Given the description of an element on the screen output the (x, y) to click on. 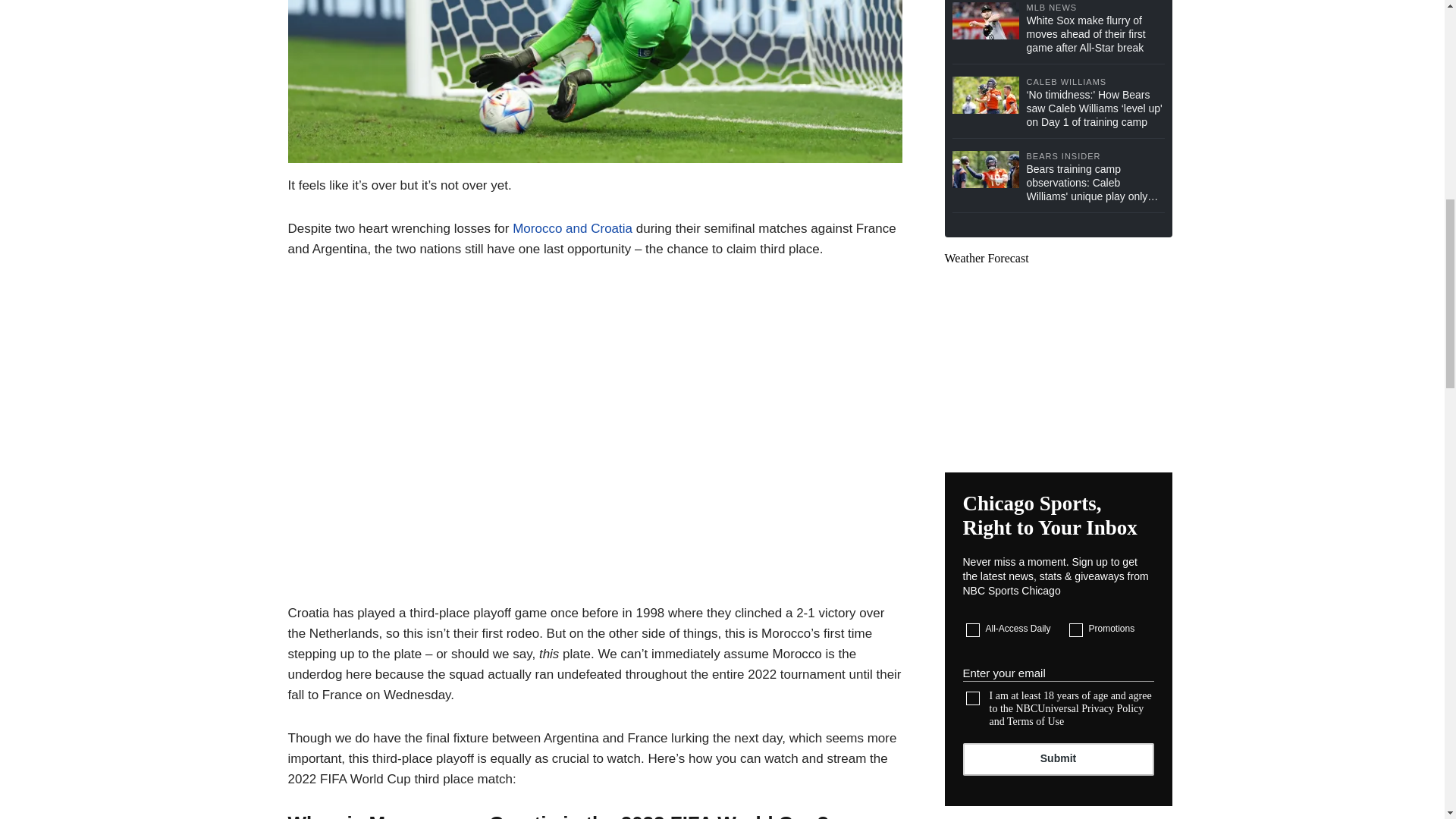
on (972, 630)
MLB NEWS (1095, 7)
3rd party ad content (1058, 359)
on (1075, 630)
Morocco and Croatia (571, 228)
on (972, 698)
